Given the description of an element on the screen output the (x, y) to click on. 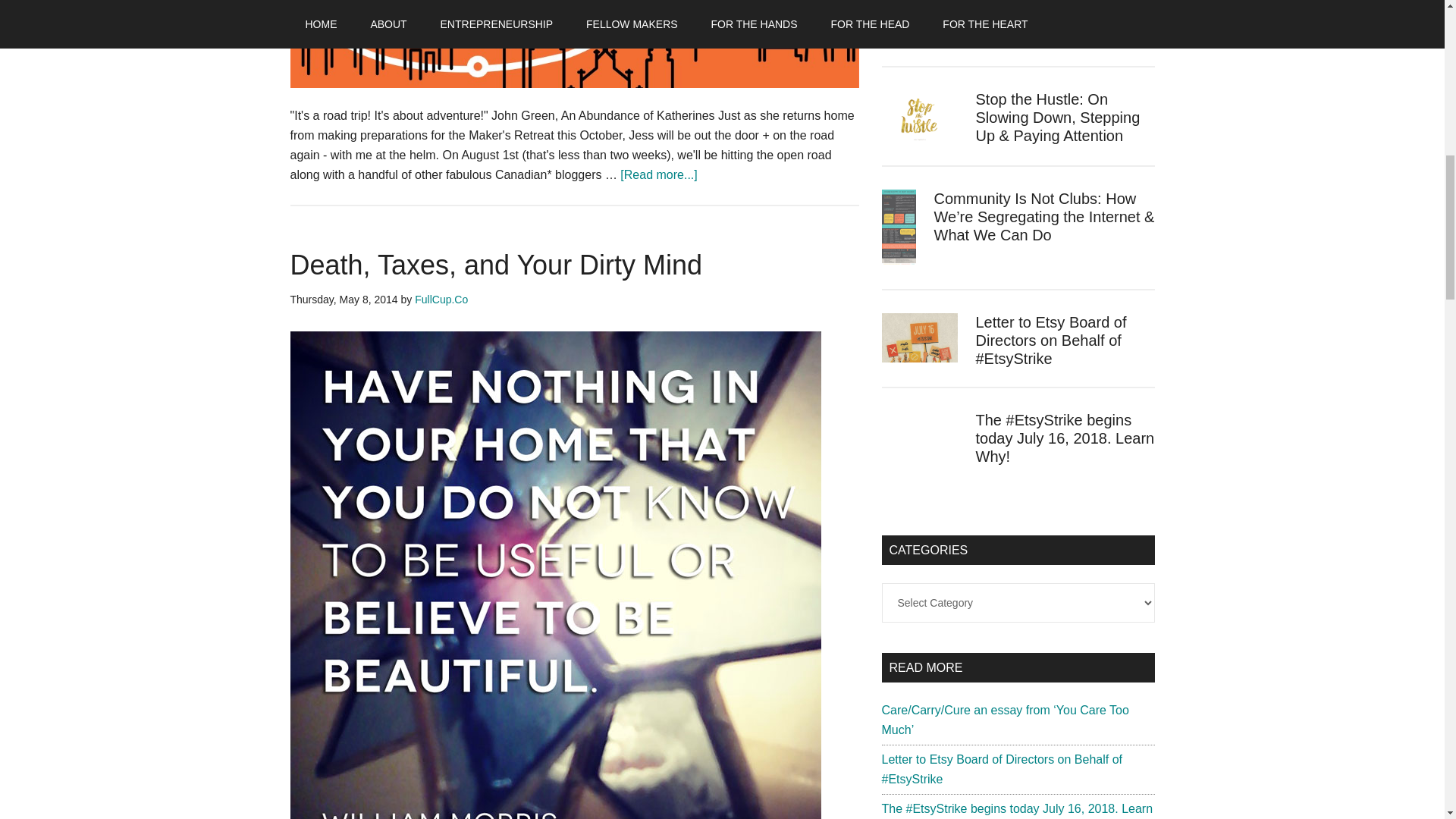
Death, Taxes, and Your Dirty Mind (495, 264)
FullCup.Co (440, 299)
